Given the description of an element on the screen output the (x, y) to click on. 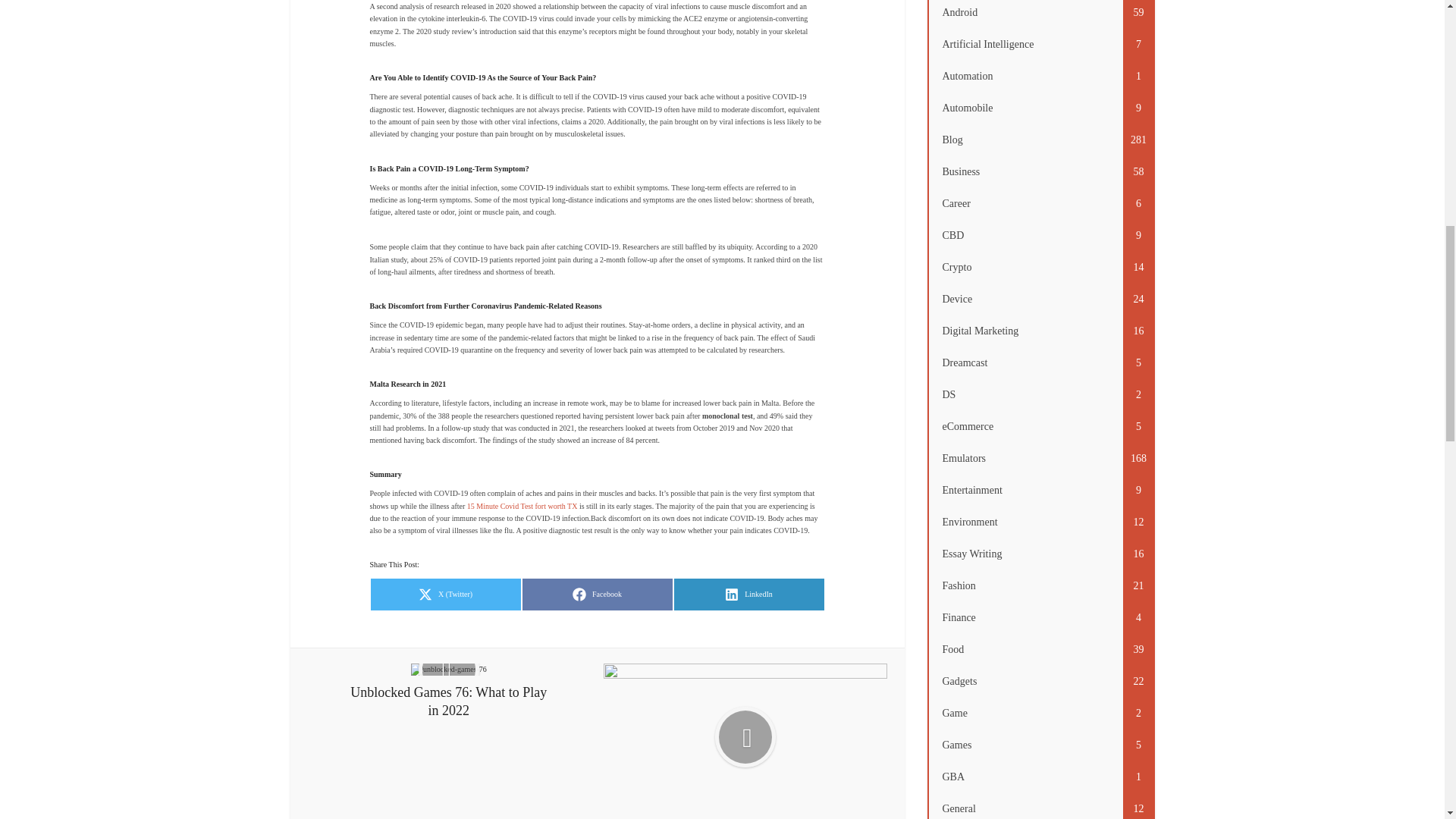
Unblocked Games 76: What to Play in 2022 (449, 690)
What does a 2 by 42 belt grinder do (596, 594)
15 Minute Covid Test fort worth TX (748, 594)
